Given the description of an element on the screen output the (x, y) to click on. 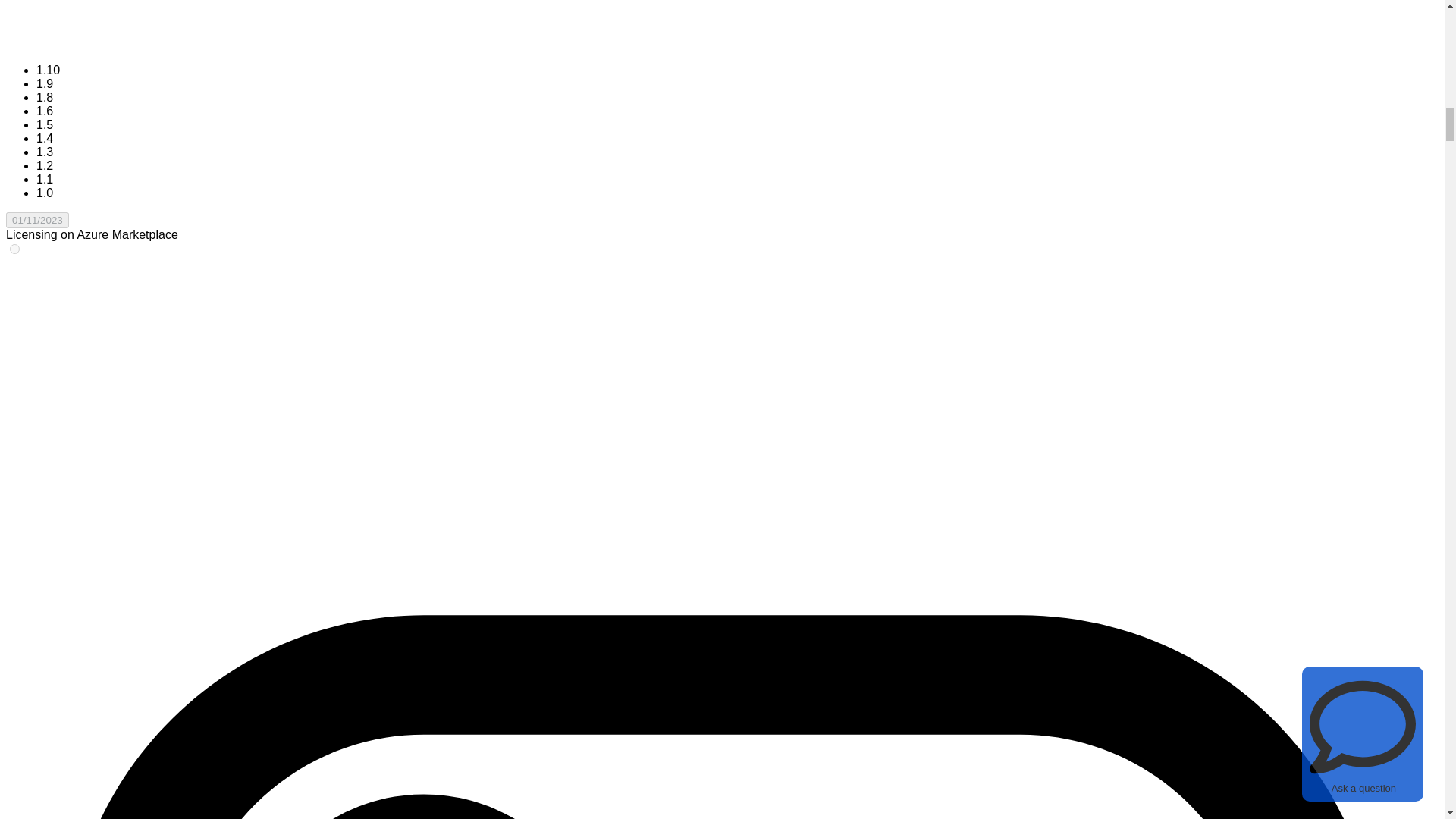
1.8 (44, 97)
1.5 (44, 124)
1.0 (44, 192)
on (15, 248)
1.1 (44, 178)
1.3 (44, 151)
1.6 (44, 110)
1.2 (44, 164)
1.9 (44, 83)
1.4 (44, 137)
1.10 (47, 69)
